Given the description of an element on the screen output the (x, y) to click on. 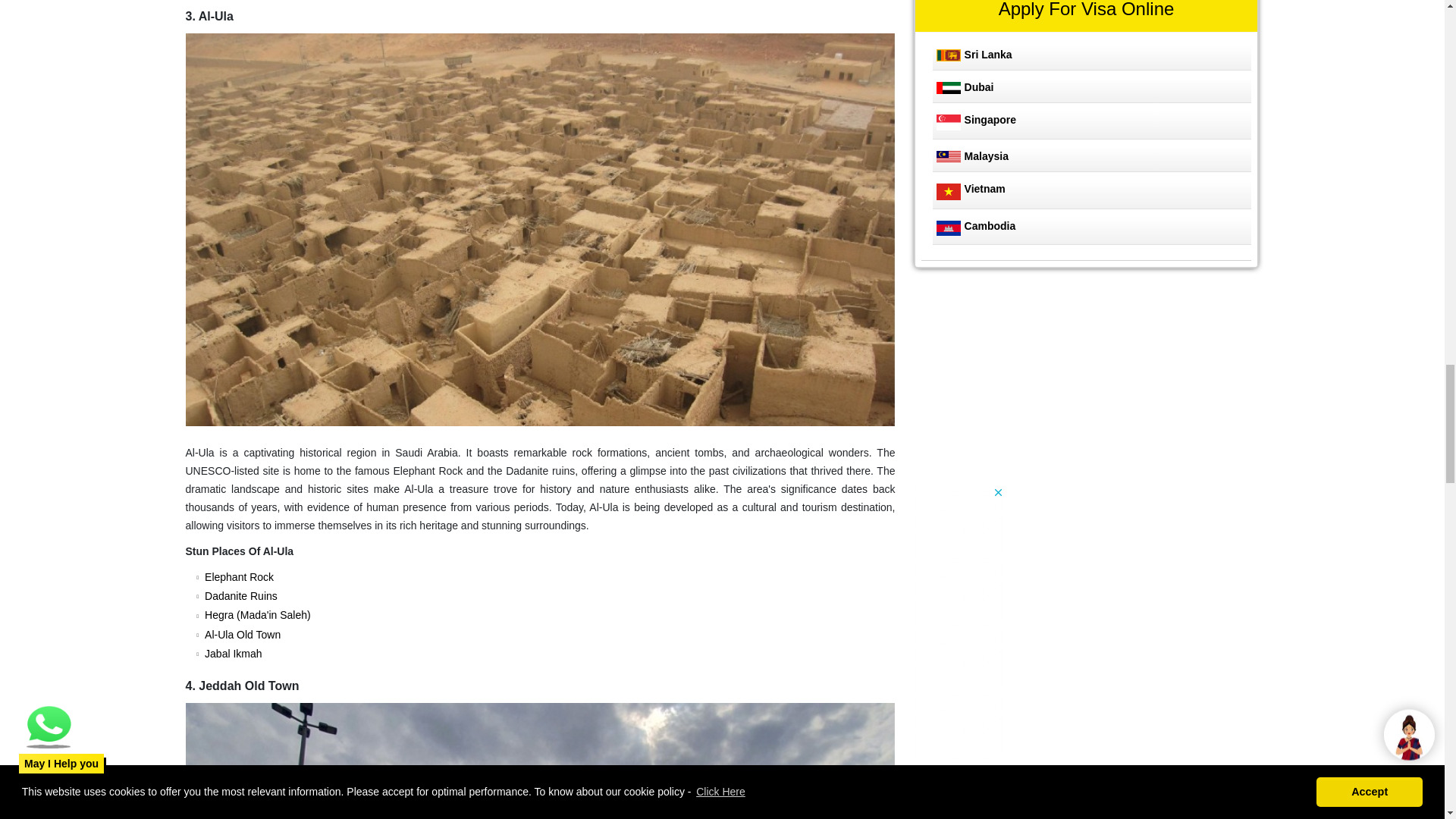
advertisement (1026, 385)
